Given the description of an element on the screen output the (x, y) to click on. 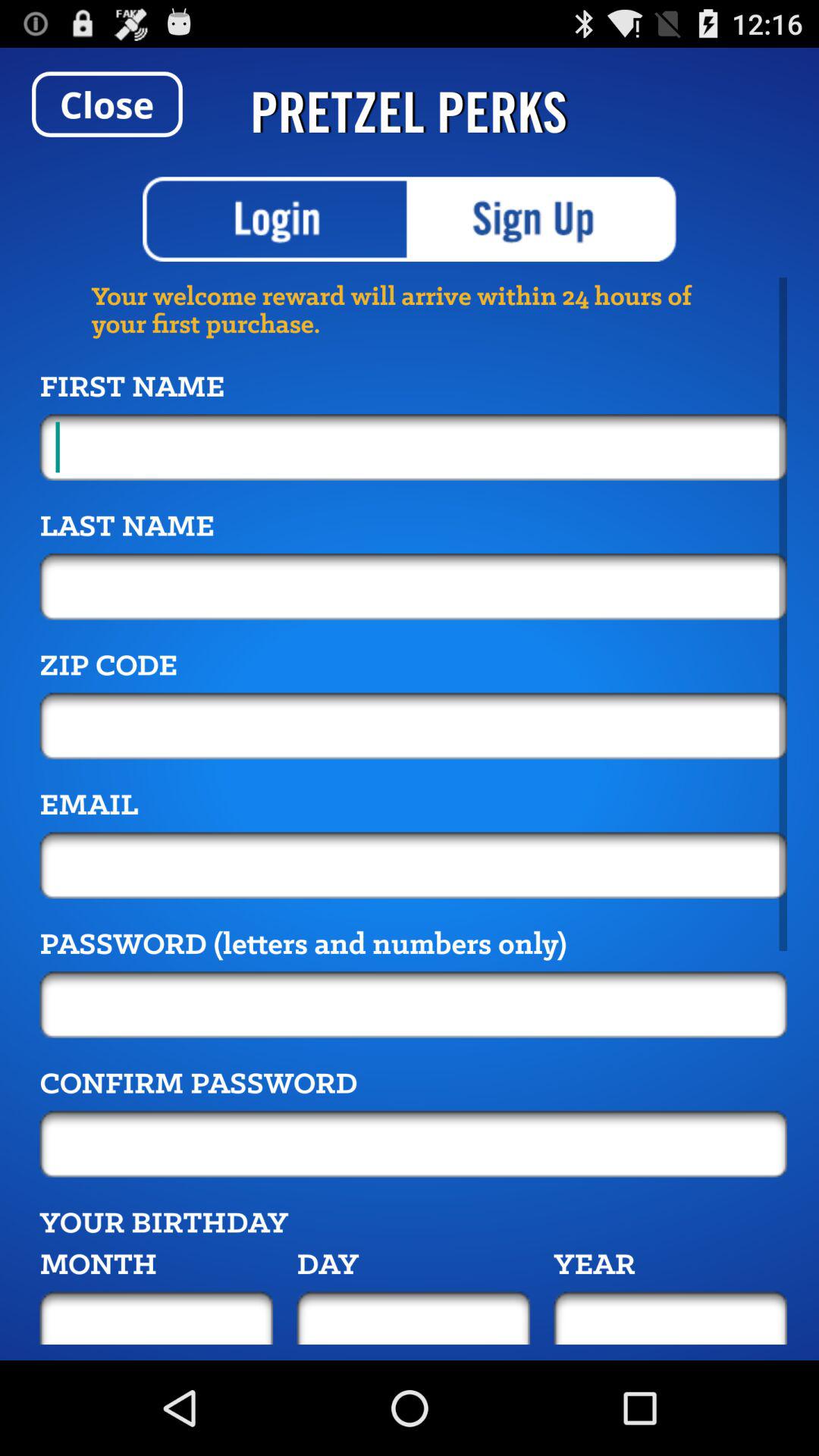
add email (413, 865)
